Given the description of an element on the screen output the (x, y) to click on. 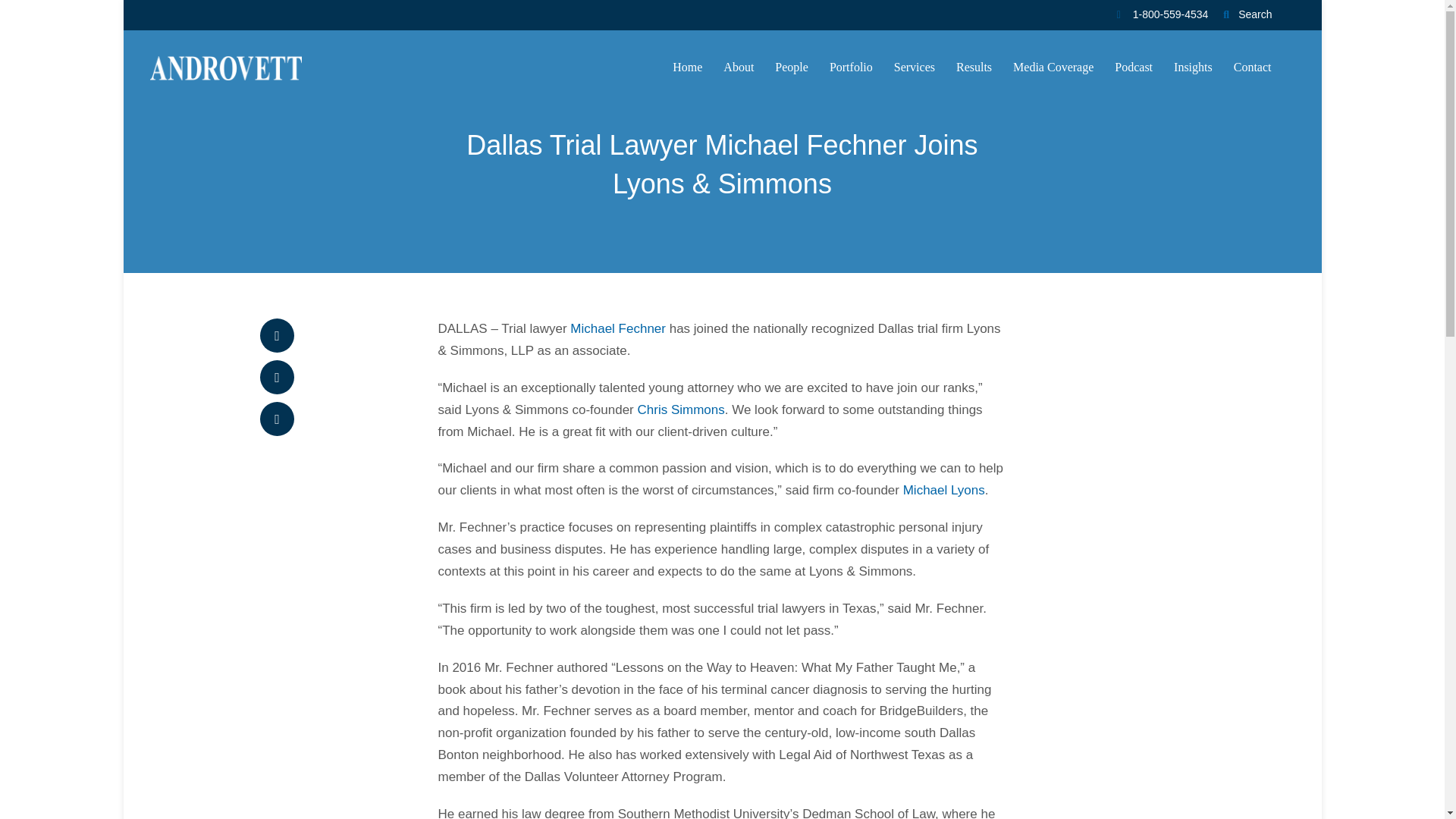
Contact (1252, 68)
People (791, 68)
1-800-559-4534 (1162, 14)
Results (973, 68)
Chris Simmons (680, 409)
Michael Fechner (617, 328)
Podcast (1134, 68)
Home (686, 68)
About (738, 68)
Insights (1192, 68)
Michael Lyons (943, 490)
Media Coverage (1053, 68)
Services (913, 68)
Portfolio (850, 68)
